Given the description of an element on the screen output the (x, y) to click on. 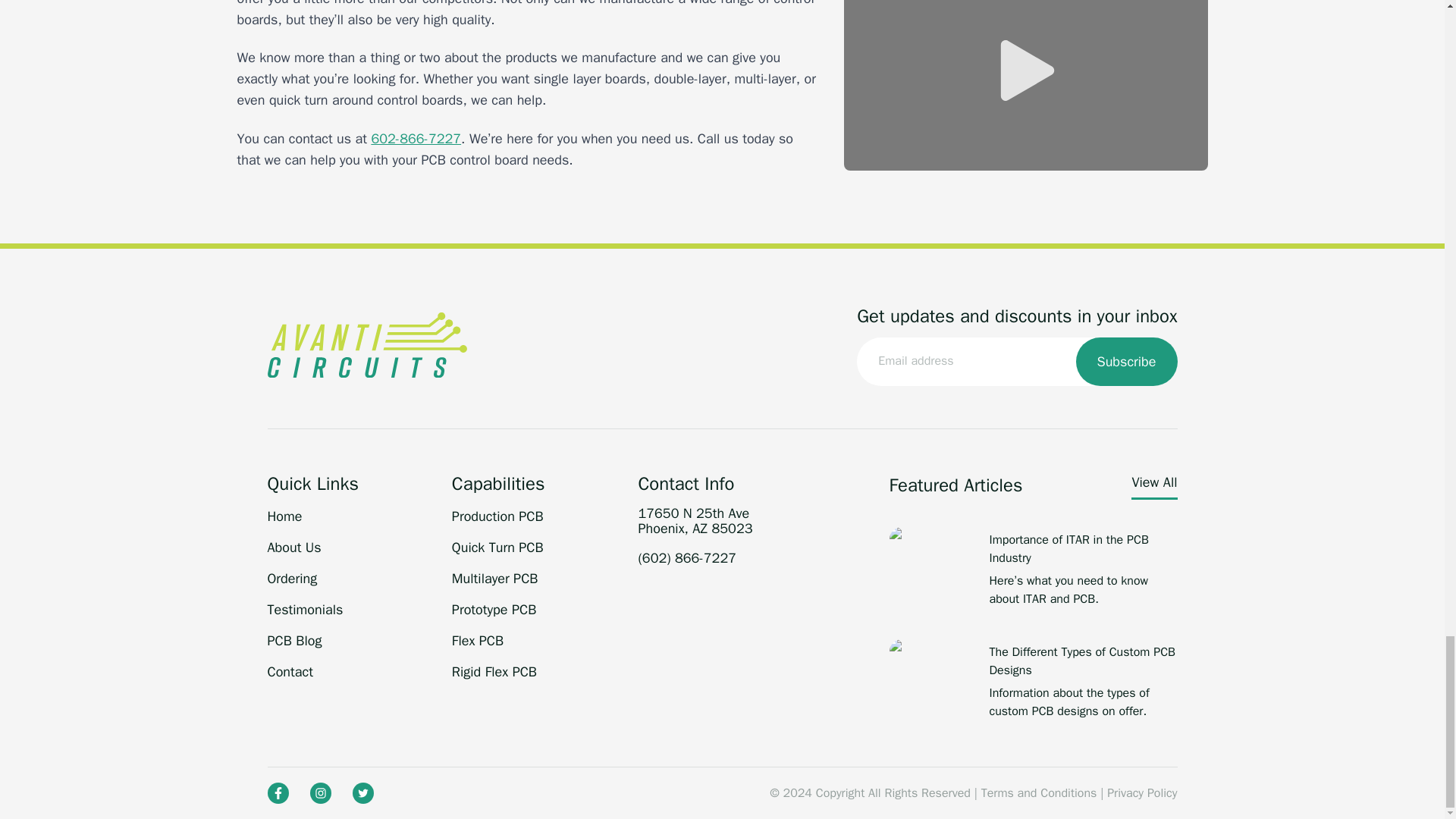
Prototype PCB (493, 609)
Privacy Policy (1141, 792)
Flex PCB (477, 640)
602-866-7227 (416, 138)
Contact (289, 671)
Importance of ITAR in the PCB Industry (1082, 548)
Quick Turn PCB (497, 547)
Rigid Flex PCB (494, 671)
Testimonials (304, 609)
Terms and Conditions (1039, 792)
